Given the description of an element on the screen output the (x, y) to click on. 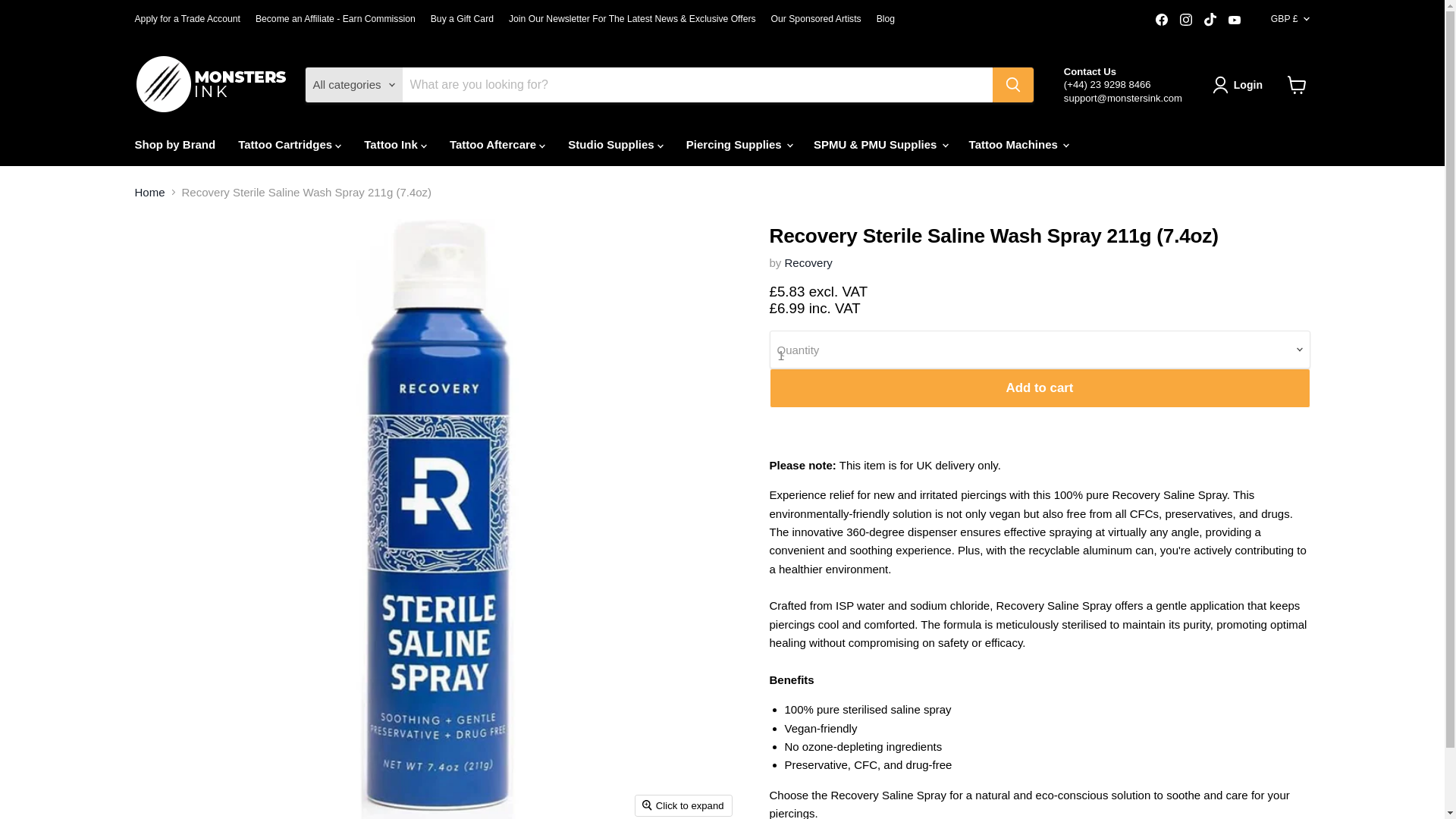
Blog (885, 18)
Shop by Brand (174, 143)
Find us on Instagram (1185, 19)
Facebook (1161, 19)
Login (1240, 85)
Find us on YouTube (1234, 19)
Find us on Facebook (1161, 19)
Buy a Gift Card (461, 18)
View cart (1296, 84)
Recovery (808, 262)
